Given the description of an element on the screen output the (x, y) to click on. 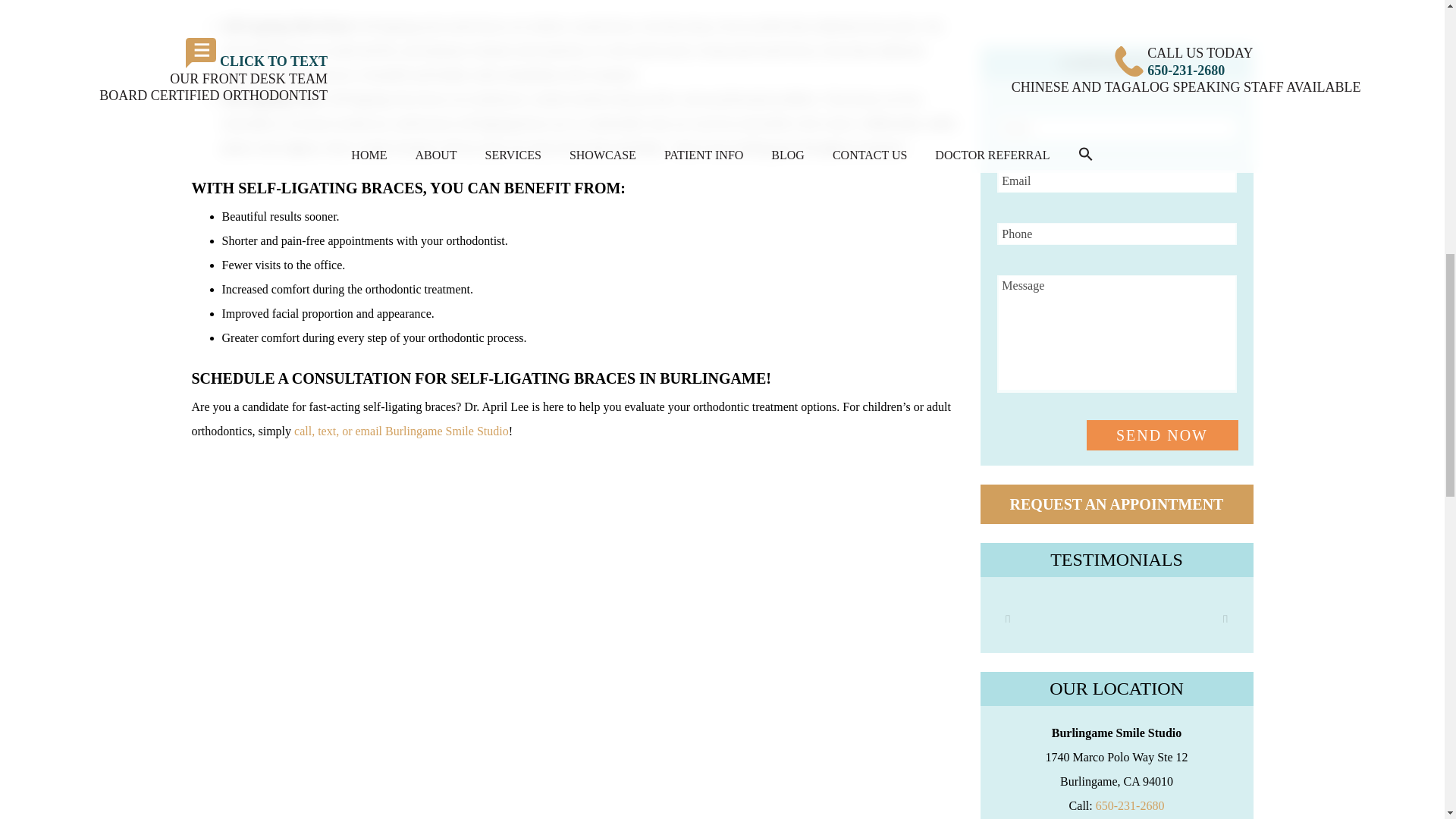
Send Now (1161, 435)
